Given the description of an element on the screen output the (x, y) to click on. 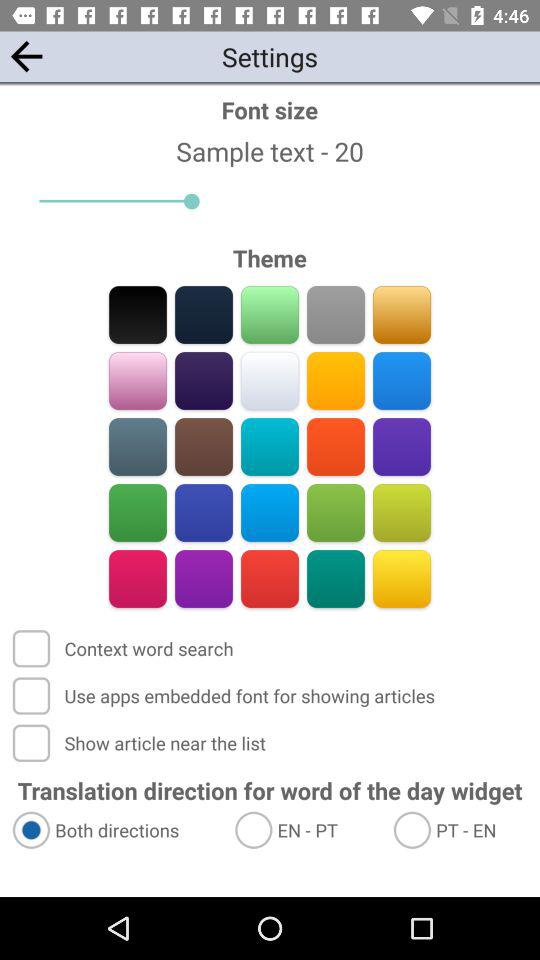
select color (269, 380)
